Given the description of an element on the screen output the (x, y) to click on. 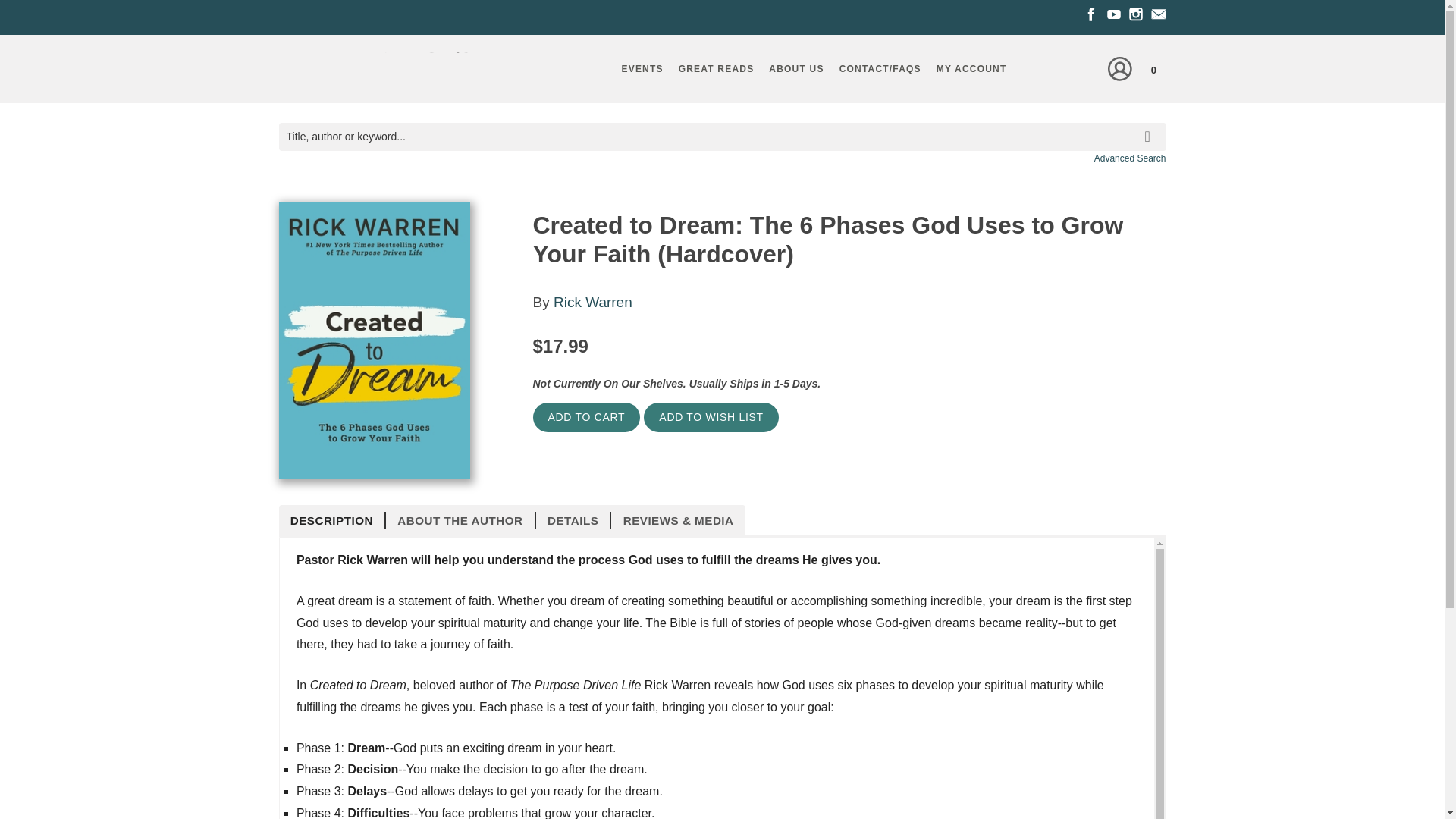
ABOUT US (796, 68)
Title, author or keyword... (722, 136)
search (1150, 125)
Home (381, 73)
Add to Wish List (710, 417)
GREAT READS (716, 68)
EVENTS (640, 68)
Add to Cart (586, 417)
